Given the description of an element on the screen output the (x, y) to click on. 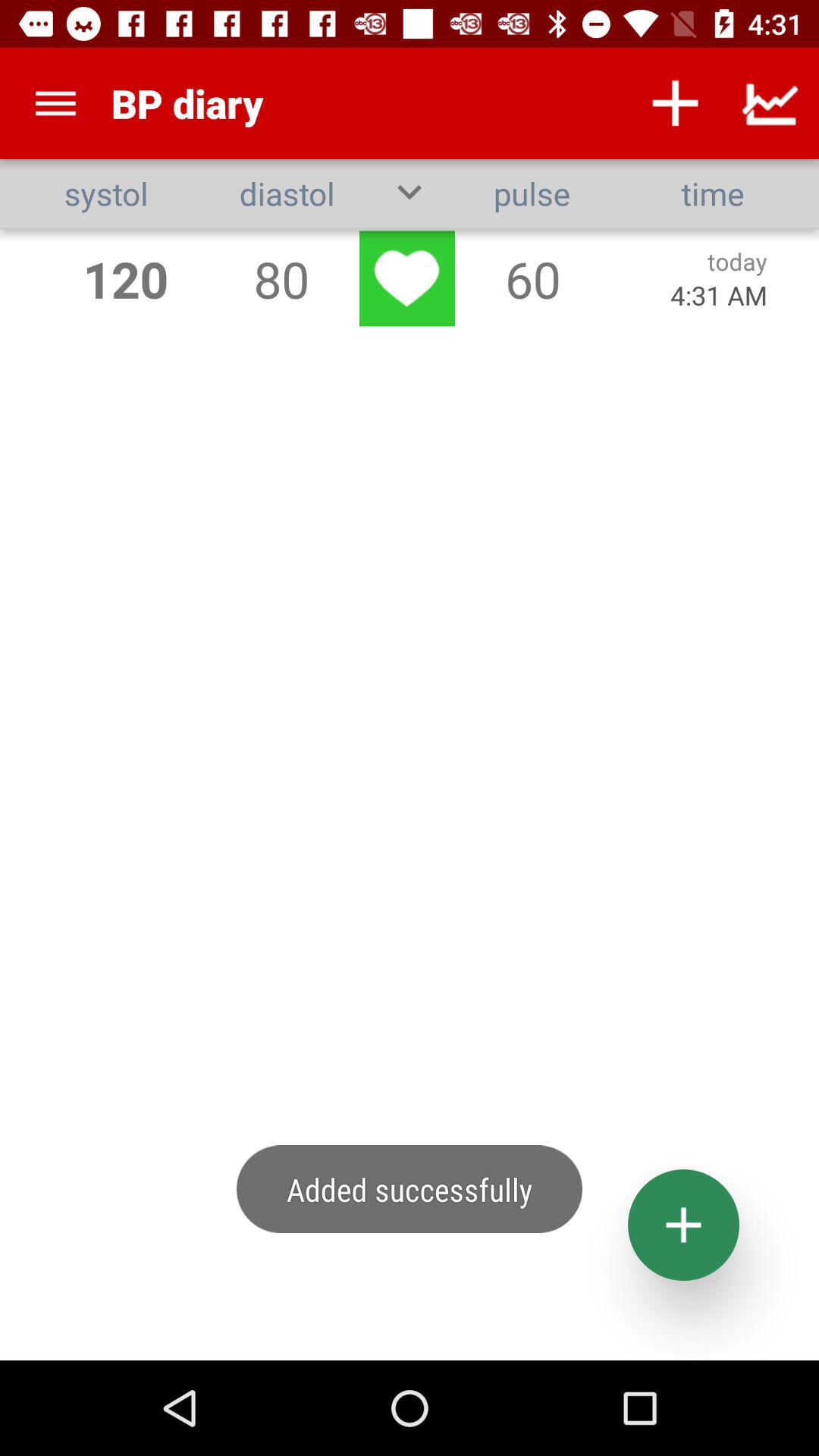
swipe until today icon (737, 261)
